Given the description of an element on the screen output the (x, y) to click on. 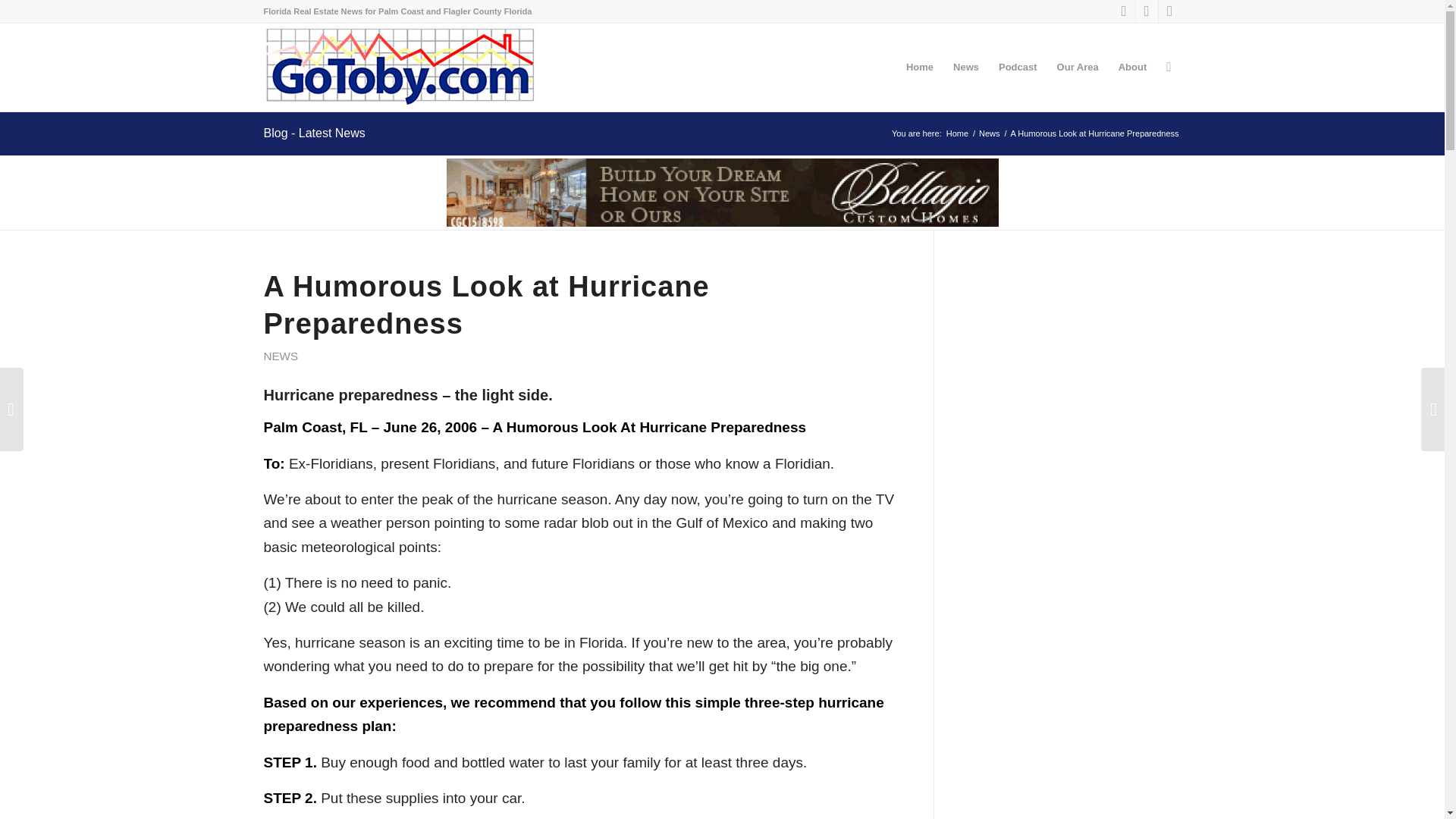
Home (957, 133)
NEWS (280, 355)
Blog - Latest News (314, 132)
LinkedIn (1169, 11)
Permanent Link: Blog - Latest News (314, 132)
Facebook (1124, 11)
Twitter (1146, 11)
News (989, 133)
Go Toby (957, 133)
